Given the description of an element on the screen output the (x, y) to click on. 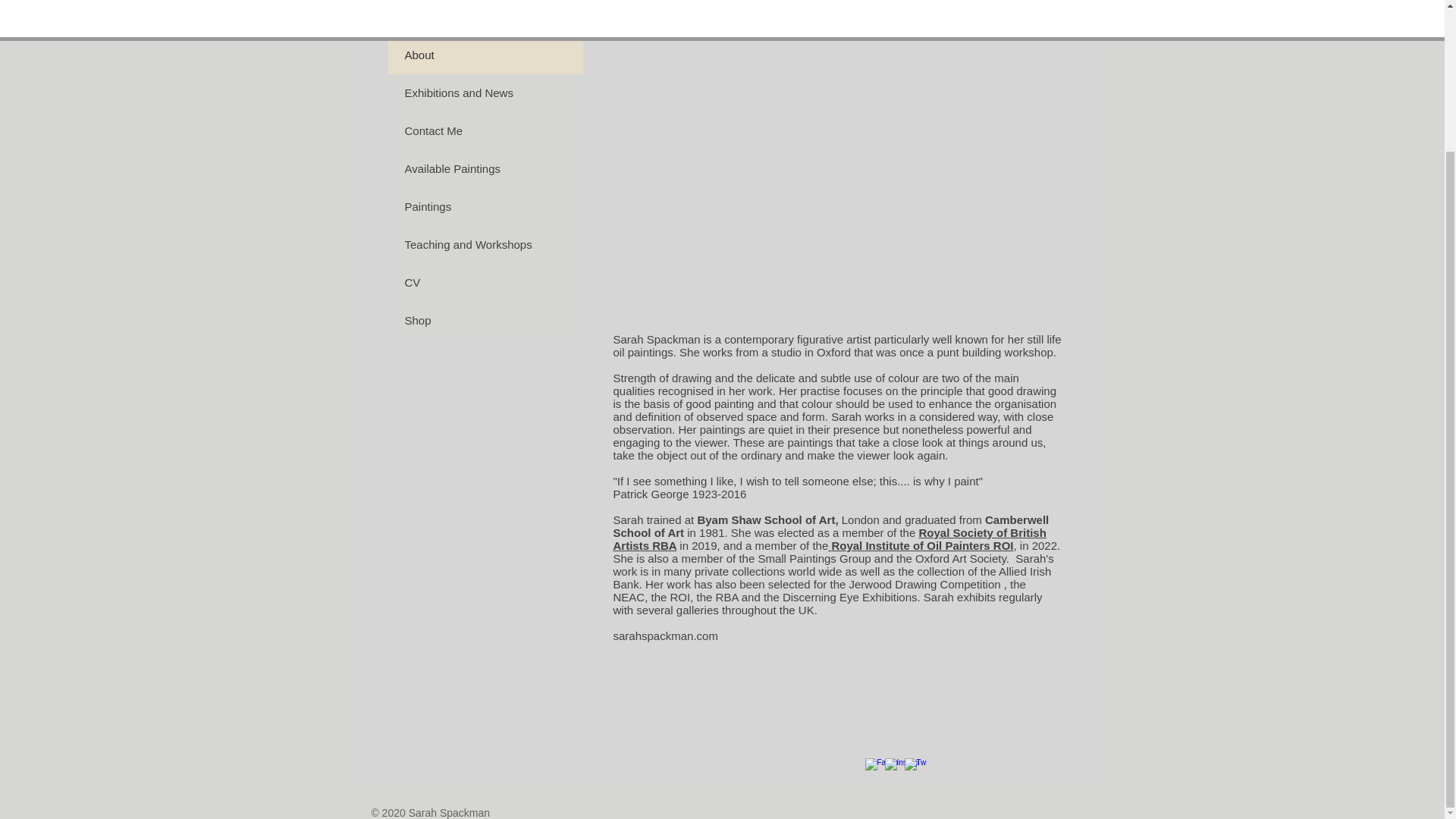
Exhibitions and News (485, 93)
Contact Me (485, 130)
Royal Institute of Oil Painters ROI (920, 545)
CV (485, 282)
Shop (485, 320)
Paintings (485, 207)
Teaching and Workshops (485, 244)
Royal Society of British Artists RBA (828, 539)
About (485, 55)
